Given the description of an element on the screen output the (x, y) to click on. 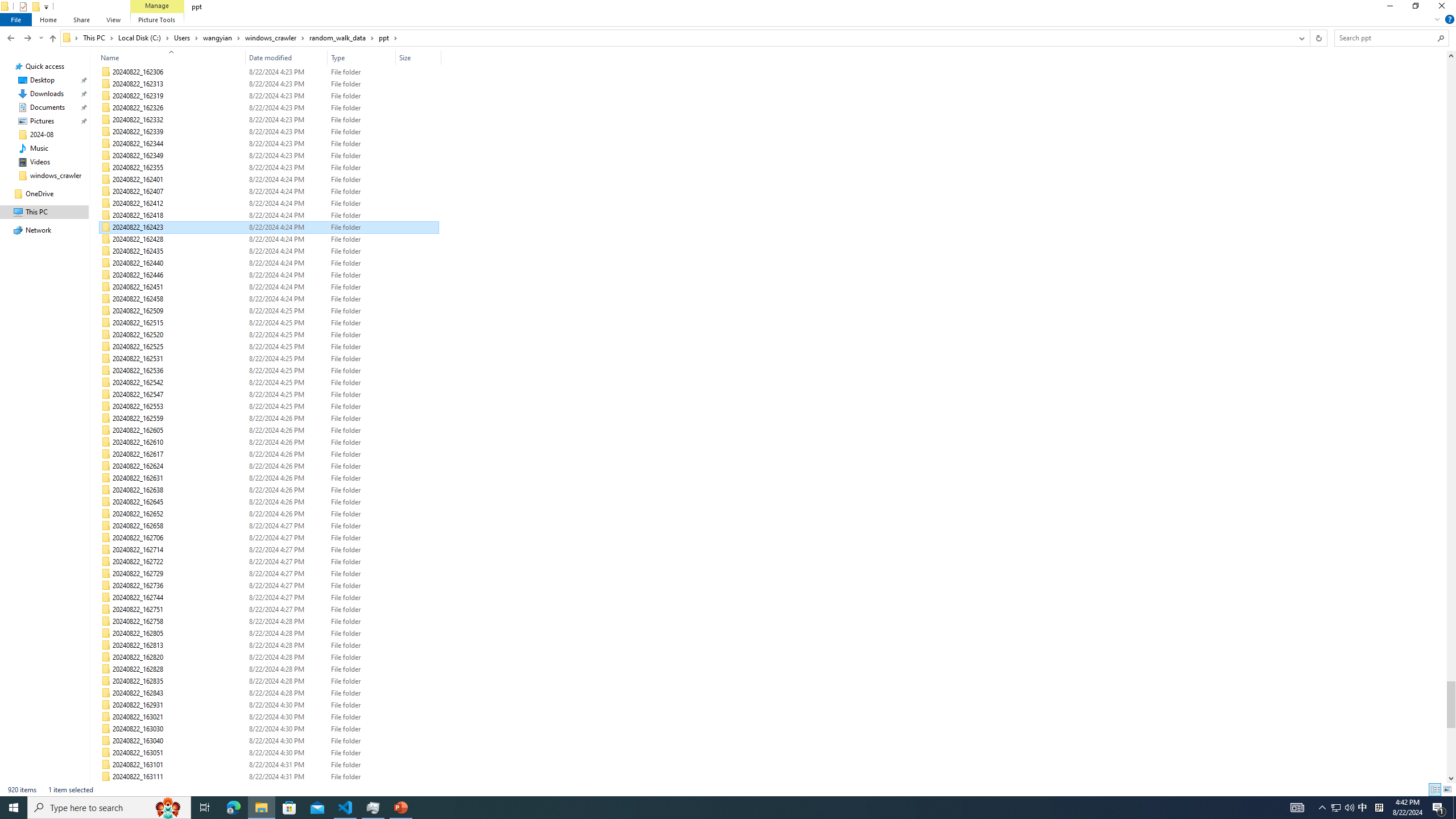
20240822_162440 (269, 263)
20240822_162835 (269, 680)
20240822_162931 (269, 704)
Type (361, 57)
20240822_162729 (269, 573)
20240822_162652 (269, 513)
